Given the description of an element on the screen output the (x, y) to click on. 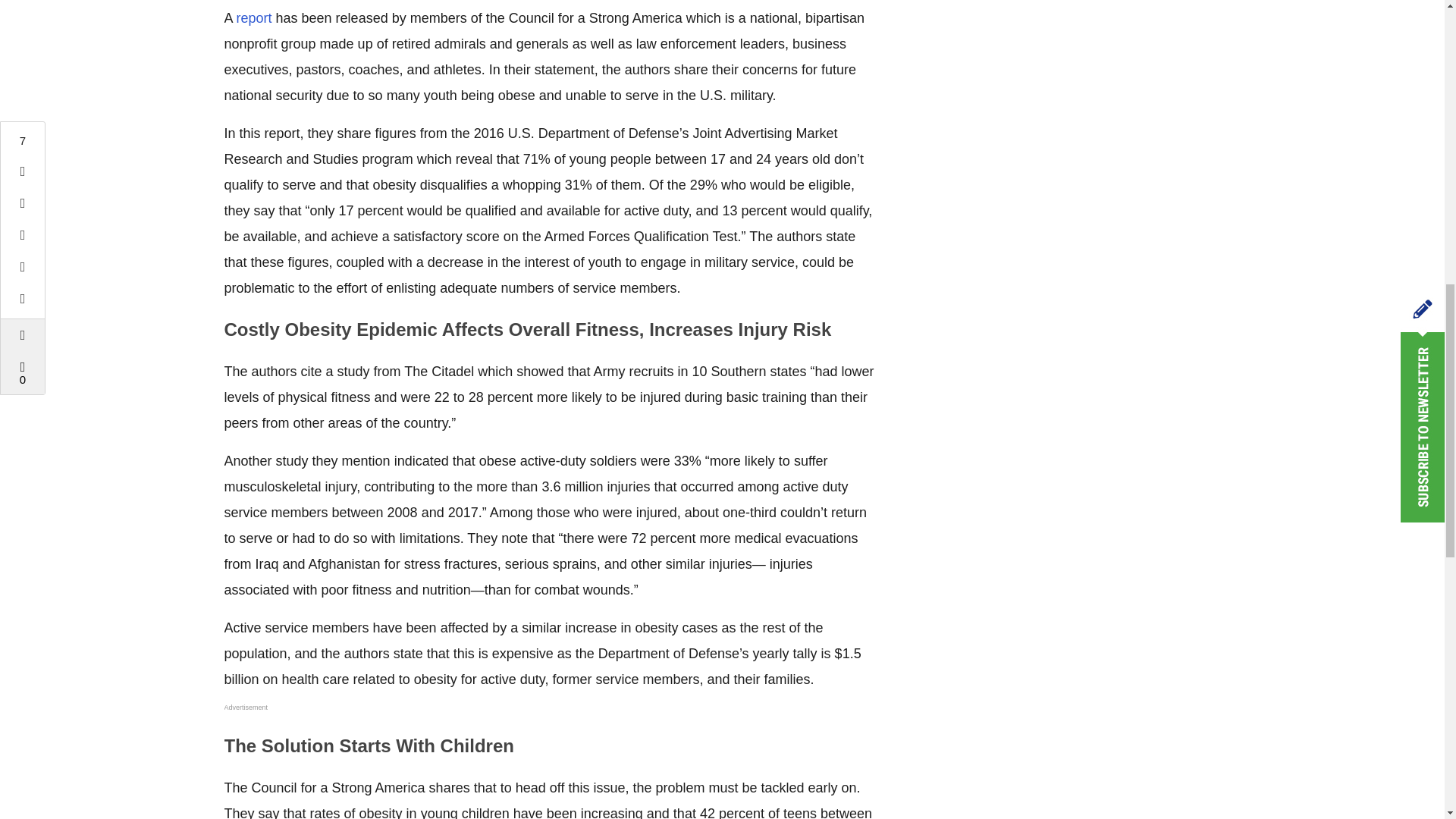
Page 3 (549, 774)
